Given the description of an element on the screen output the (x, y) to click on. 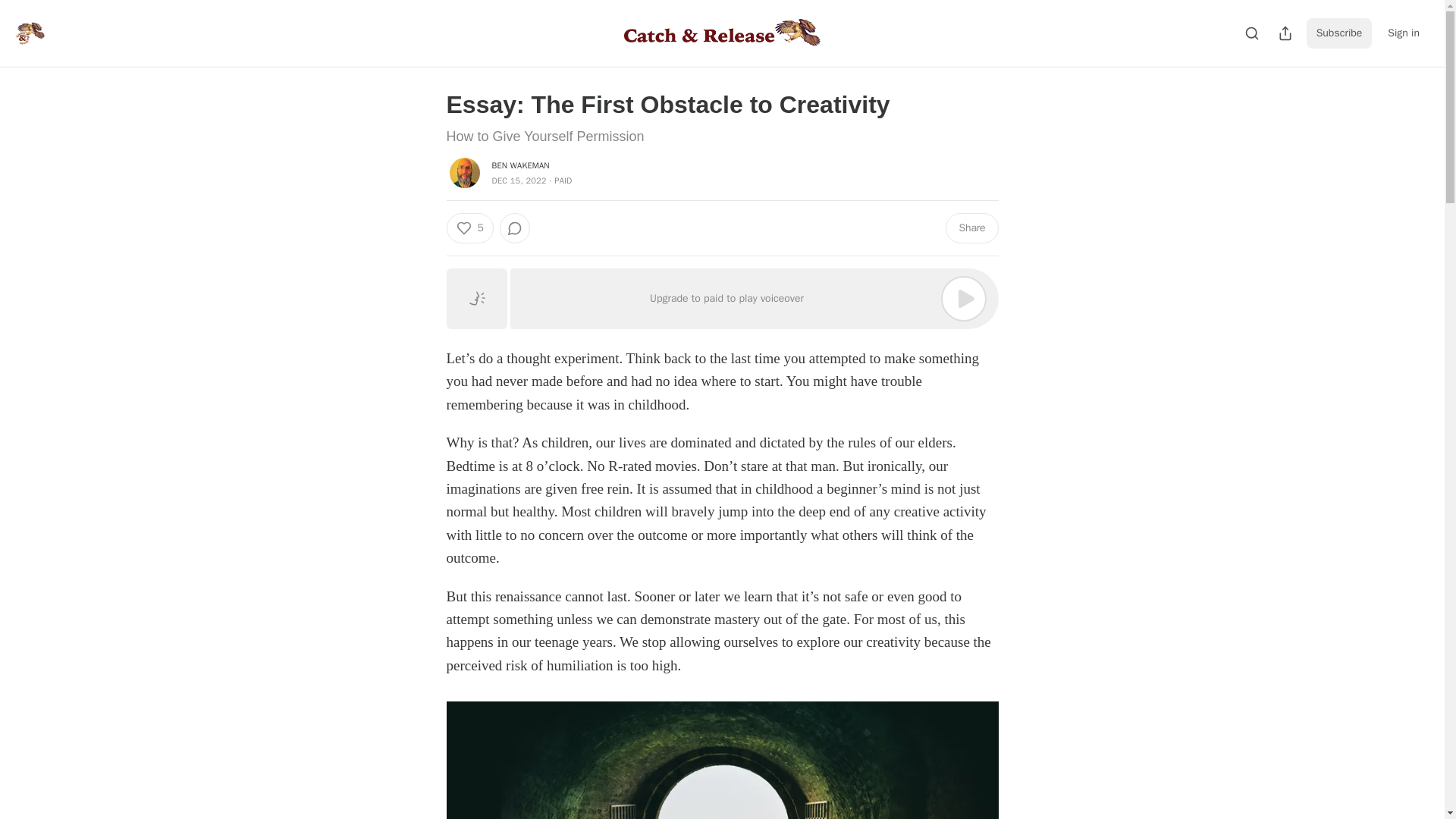
Share (970, 227)
Sign in (1403, 33)
Subscribe (1339, 33)
BEN WAKEMAN (520, 164)
5 (469, 227)
